Given the description of an element on the screen output the (x, y) to click on. 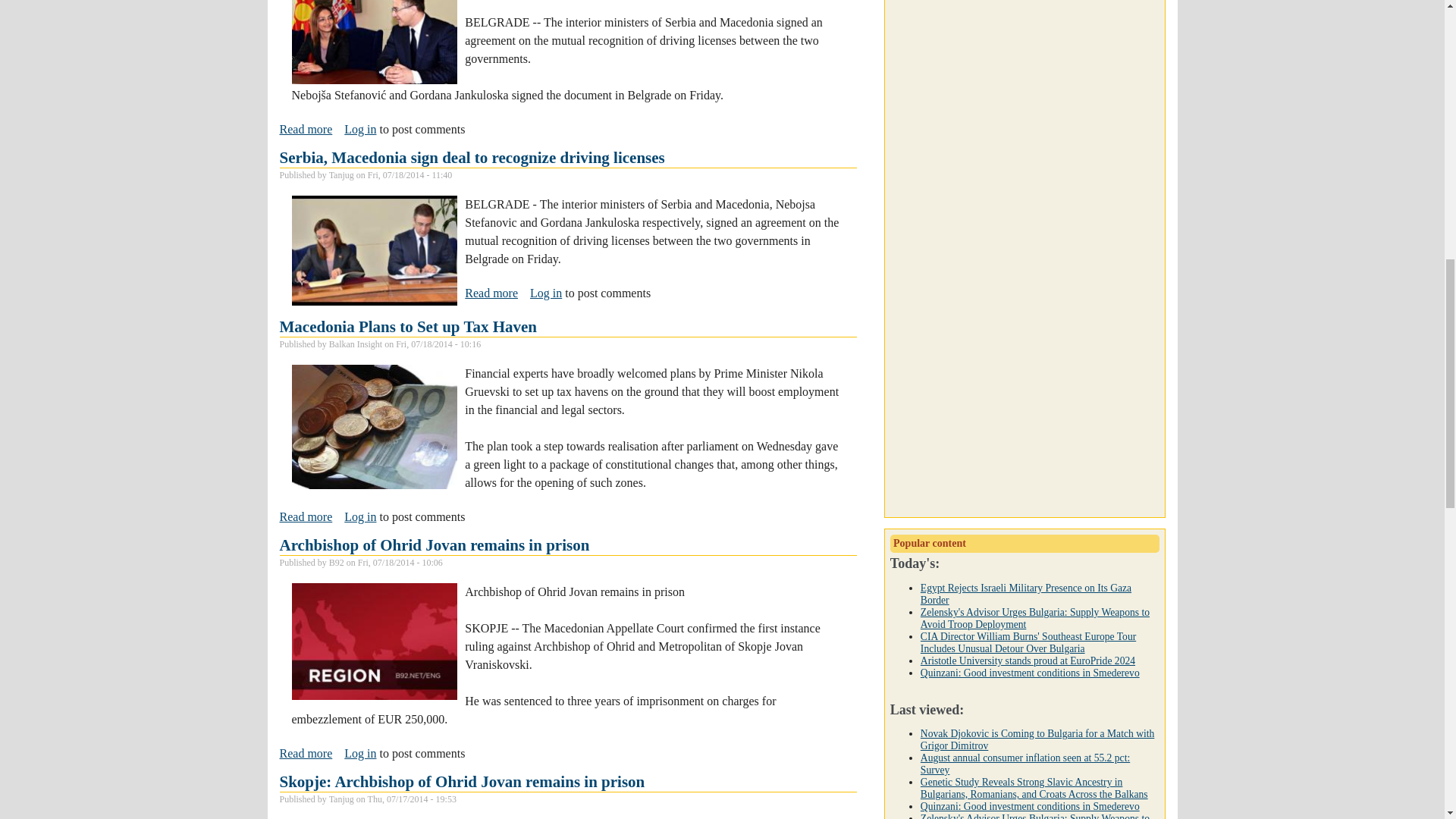
Log in (305, 129)
Log in (359, 128)
Macedonia Plans to Set up Tax Haven (359, 516)
Log in (408, 326)
Serbia, Macedonia sign deal to recognize driving licenses (305, 517)
Archbishop of Ohrid Jovan remains in prison (545, 292)
